Given the description of an element on the screen output the (x, y) to click on. 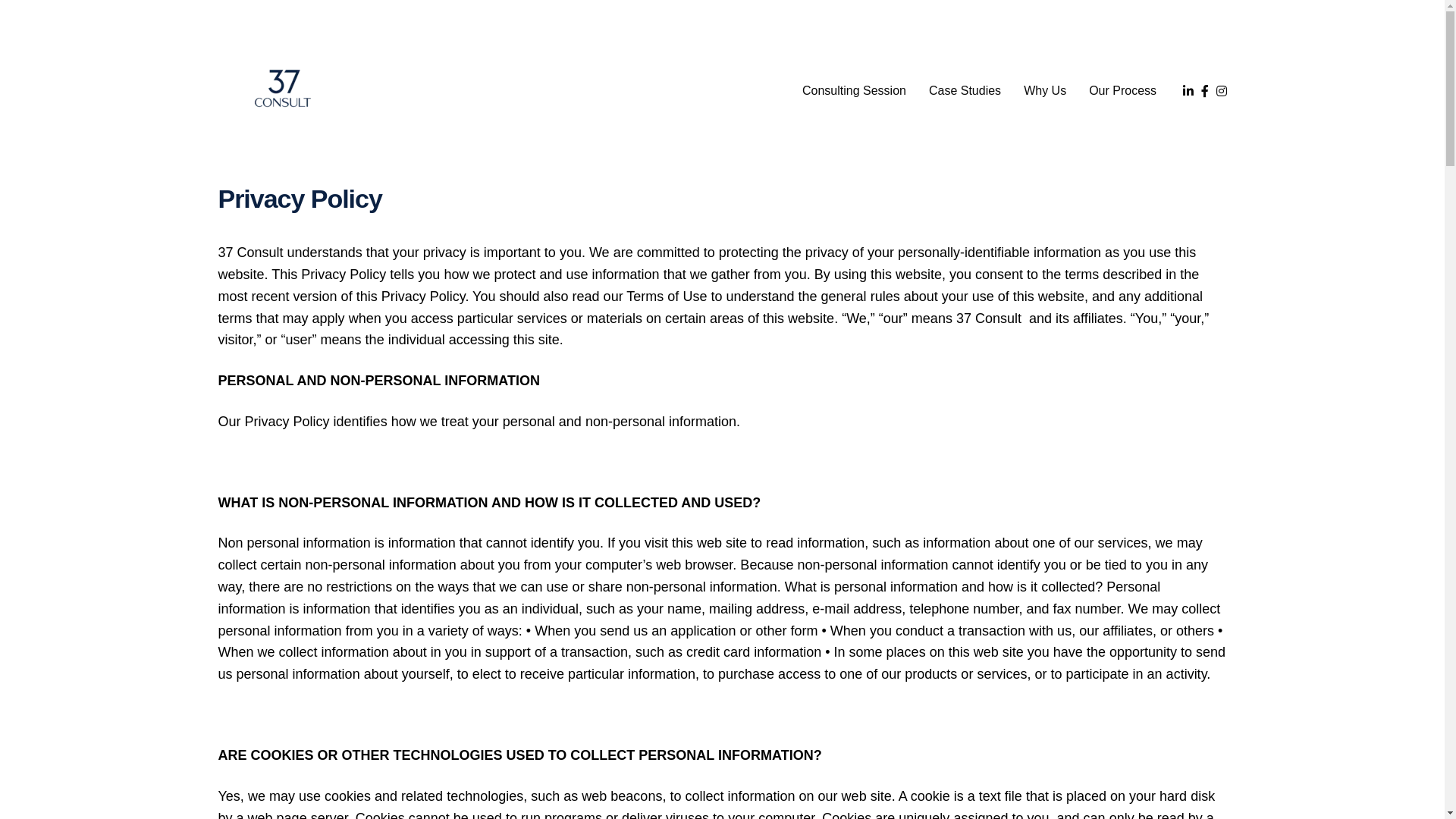
Consulting Session Element type: text (854, 90)
Why Us Element type: text (1044, 90)
Our Process Element type: text (1122, 90)
37 Consult LLC Element type: hover (282, 90)
Case Studies Element type: text (964, 90)
